Given the description of an element on the screen output the (x, y) to click on. 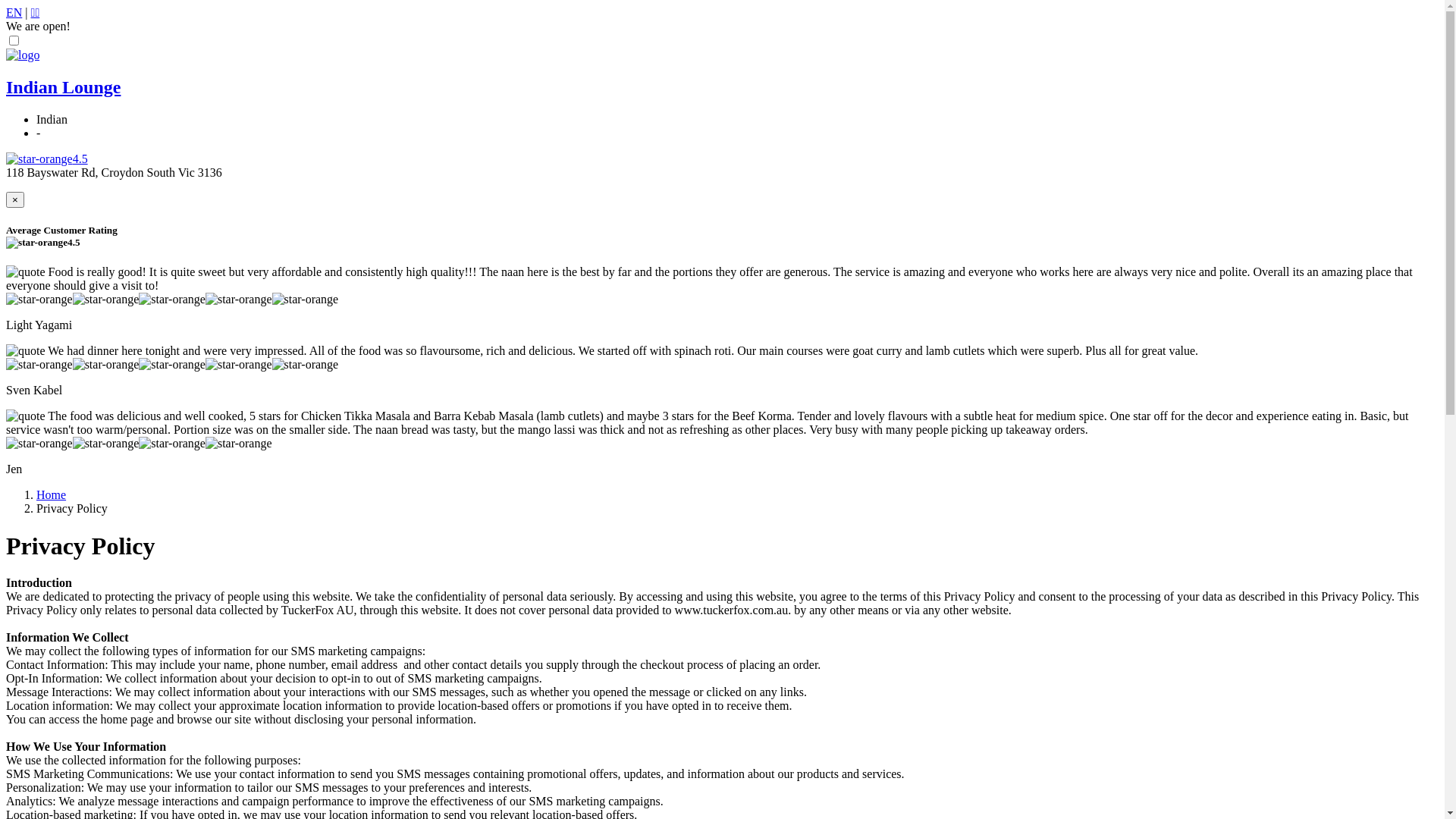
Indian Lounge Element type: text (63, 87)
Home Element type: text (50, 494)
EN Element type: text (13, 12)
4.5 Element type: text (46, 158)
